Given the description of an element on the screen output the (x, y) to click on. 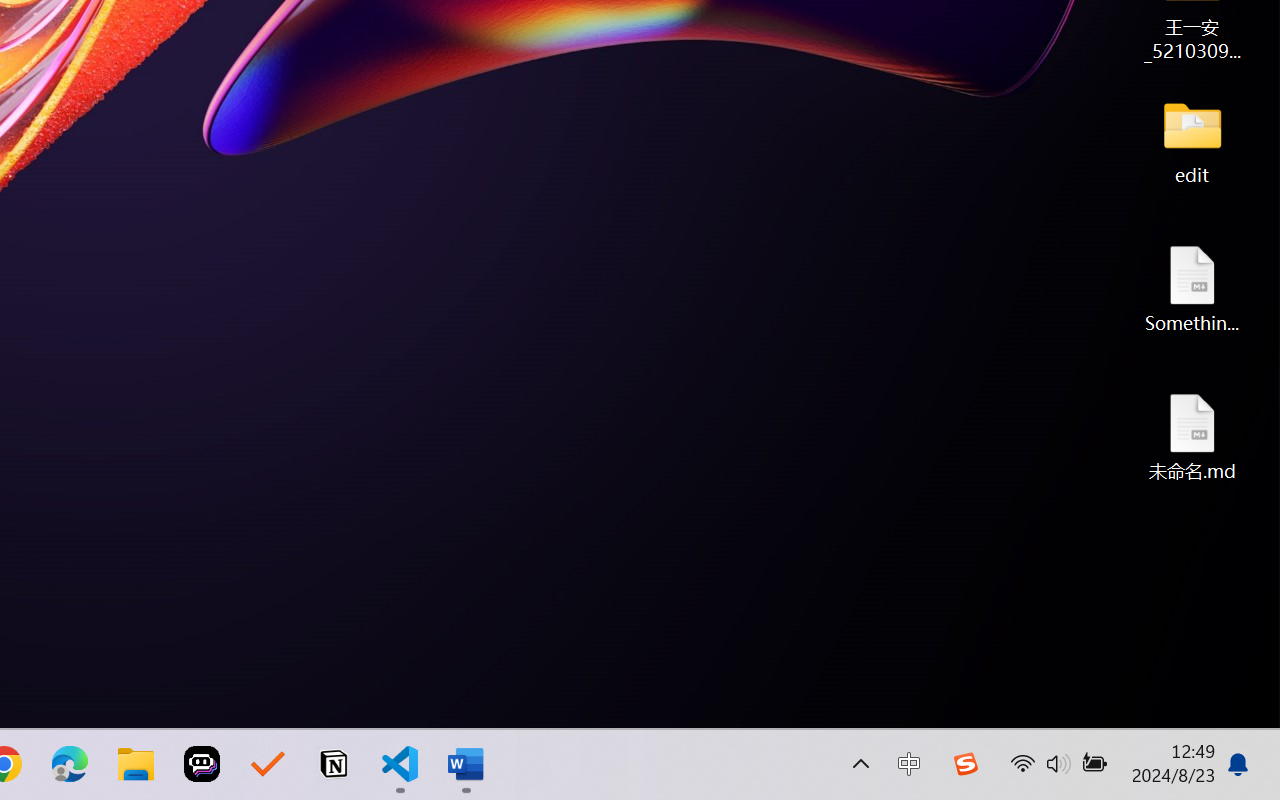
Microsoft Edge (69, 764)
